Given the description of an element on the screen output the (x, y) to click on. 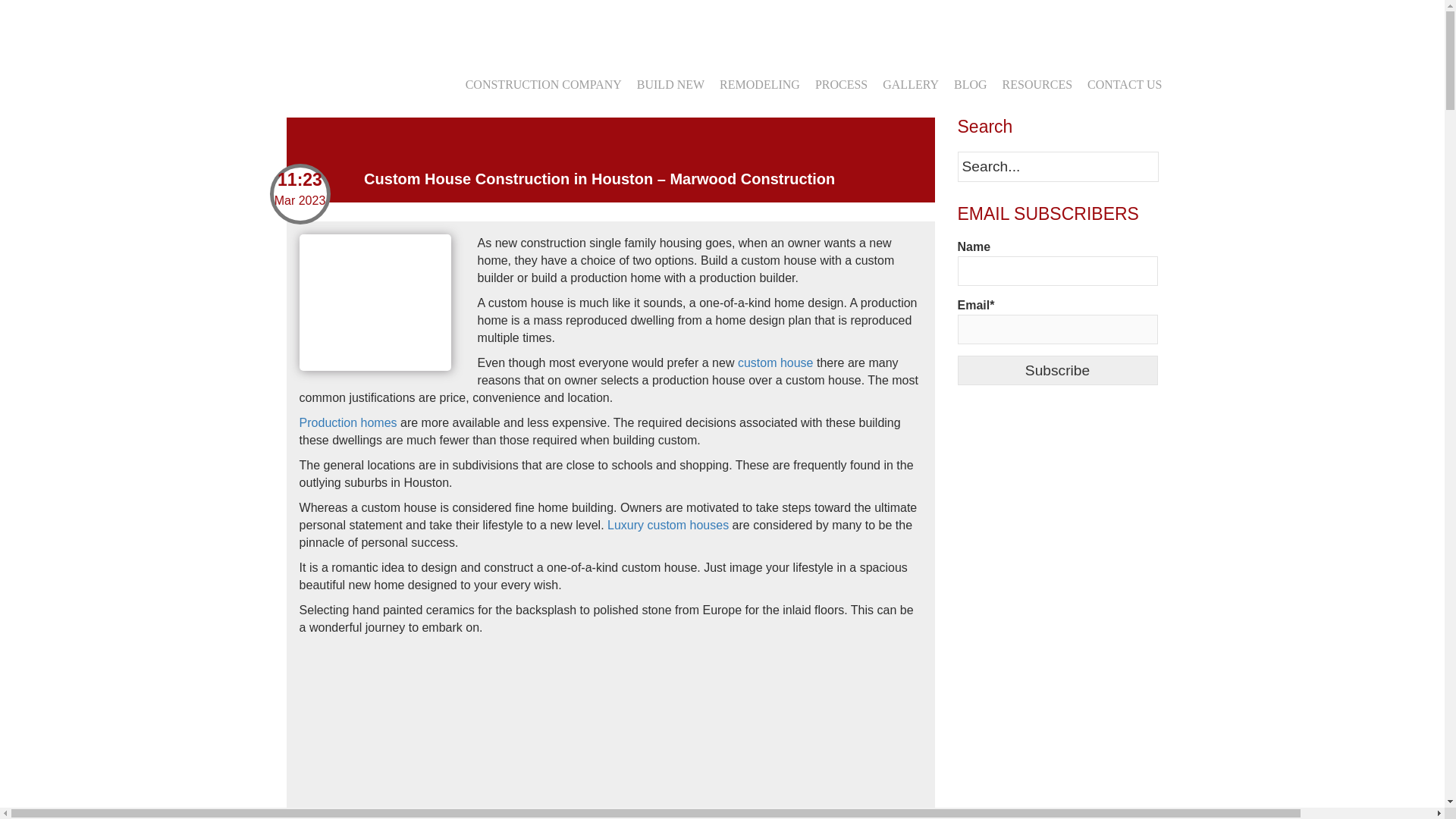
twitter (308, 20)
CONSTRUCTION COMPANY (543, 84)
Search... (1056, 165)
contact (979, 19)
linkedin (336, 20)
Pinterest (362, 20)
facebook (280, 20)
713-818-1720 (921, 19)
REMODELING (759, 84)
twitter (308, 20)
